Given the description of an element on the screen output the (x, y) to click on. 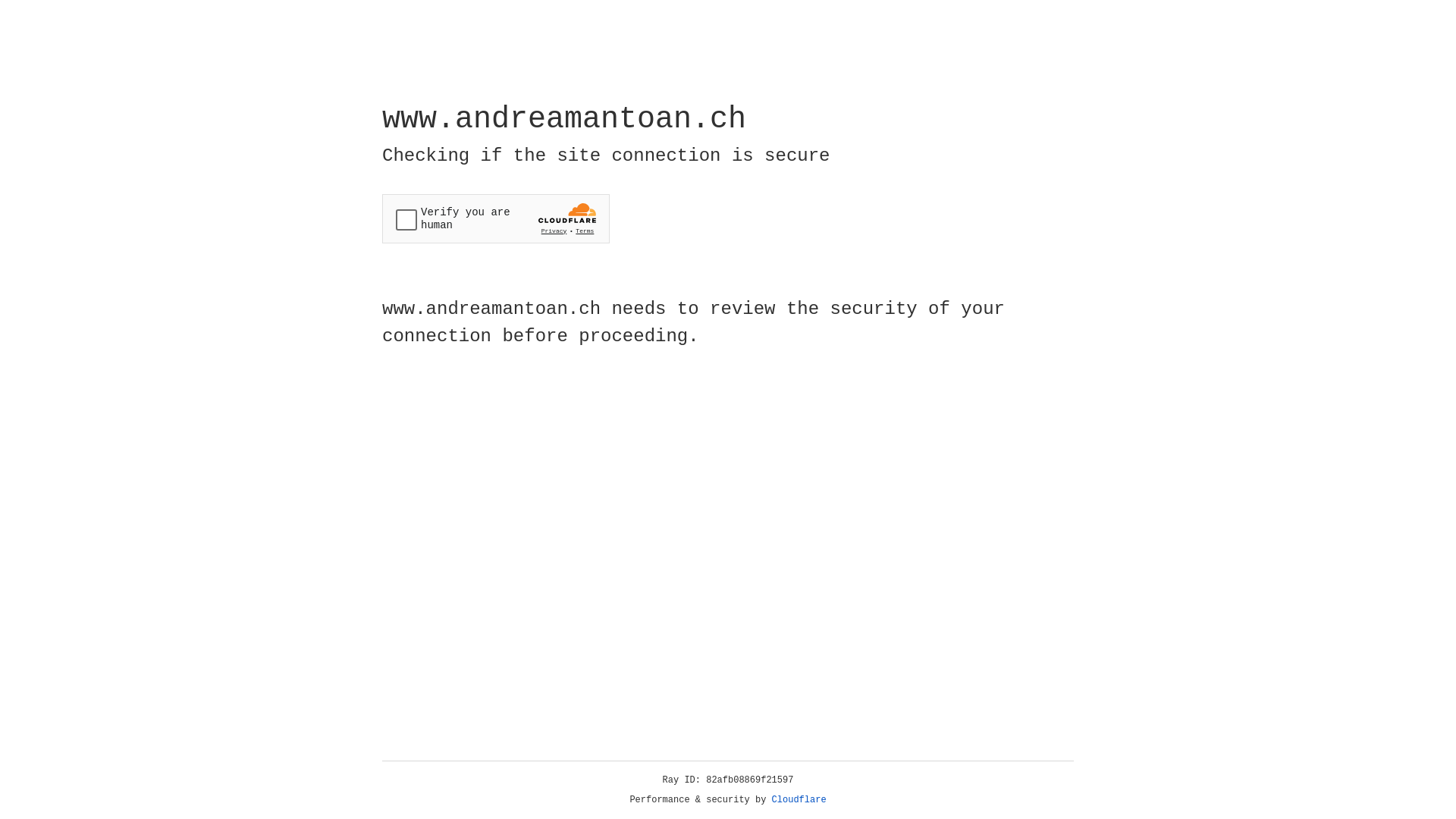
Widget containing a Cloudflare security challenge Element type: hover (495, 218)
Cloudflare Element type: text (798, 799)
